Given the description of an element on the screen output the (x, y) to click on. 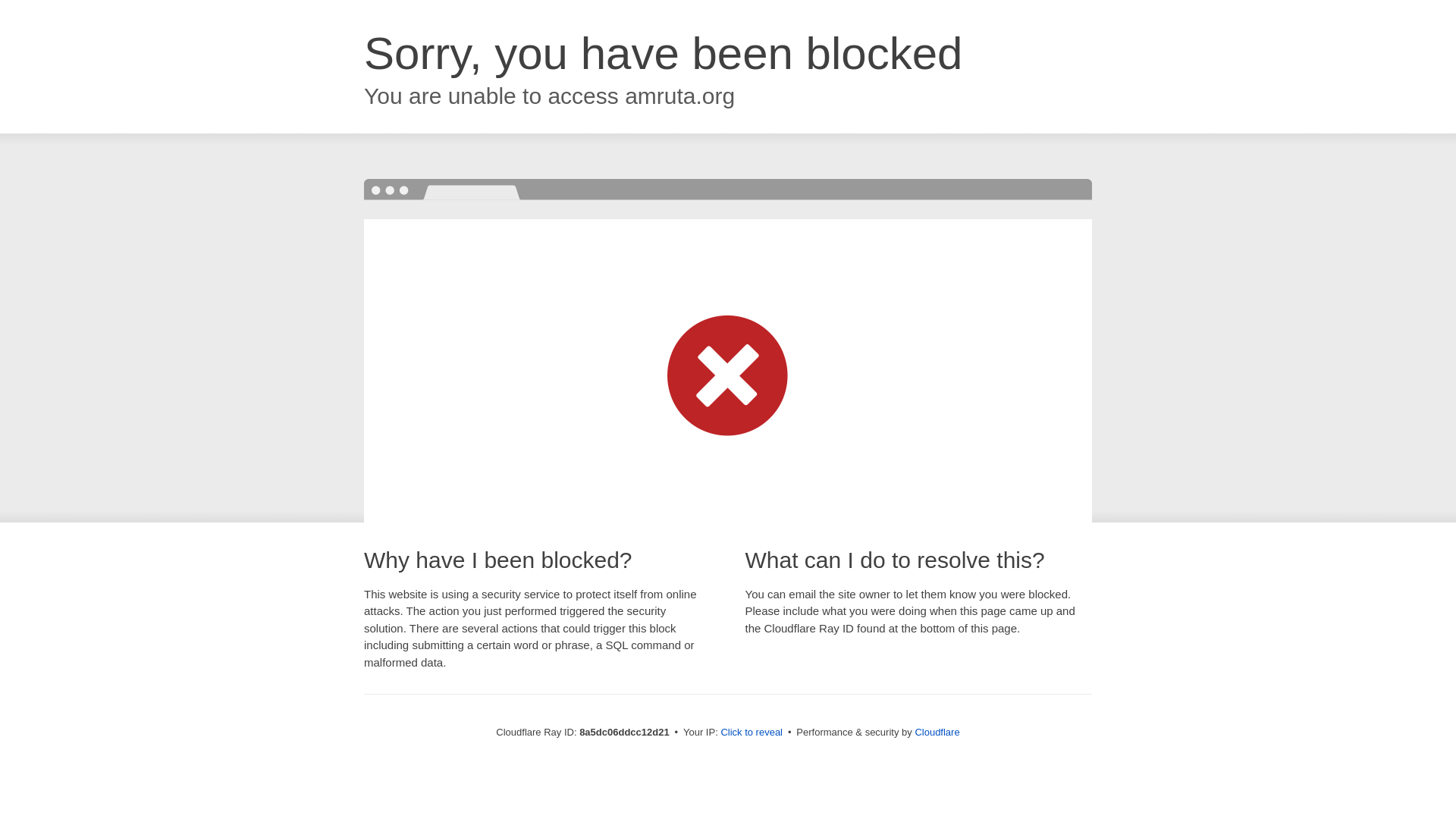
Click to reveal (751, 732)
Cloudflare (936, 731)
